Given the description of an element on the screen output the (x, y) to click on. 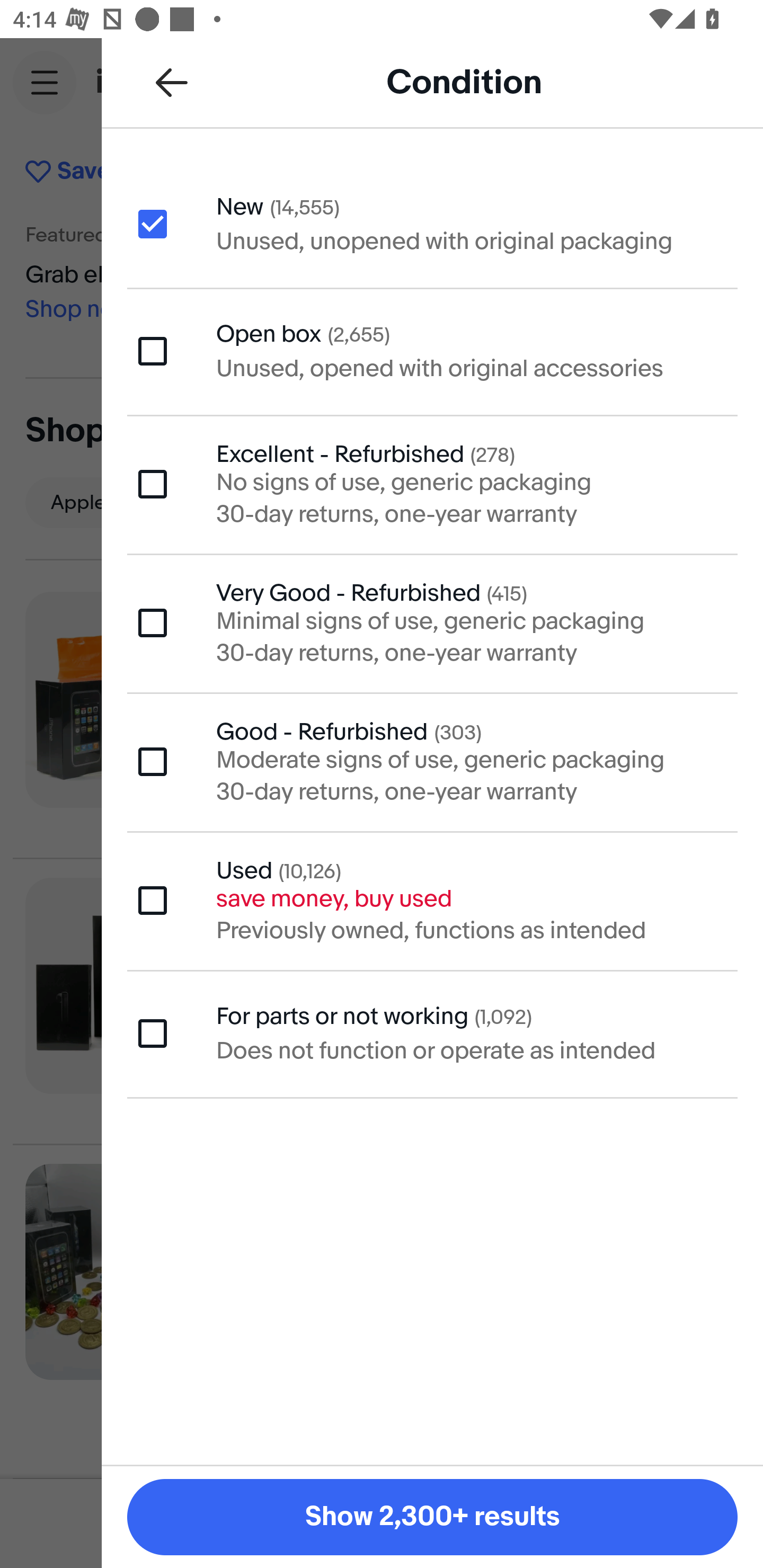
Back to all refinements (171, 81)
Show 2,300+ results (432, 1516)
